Given the description of an element on the screen output the (x, y) to click on. 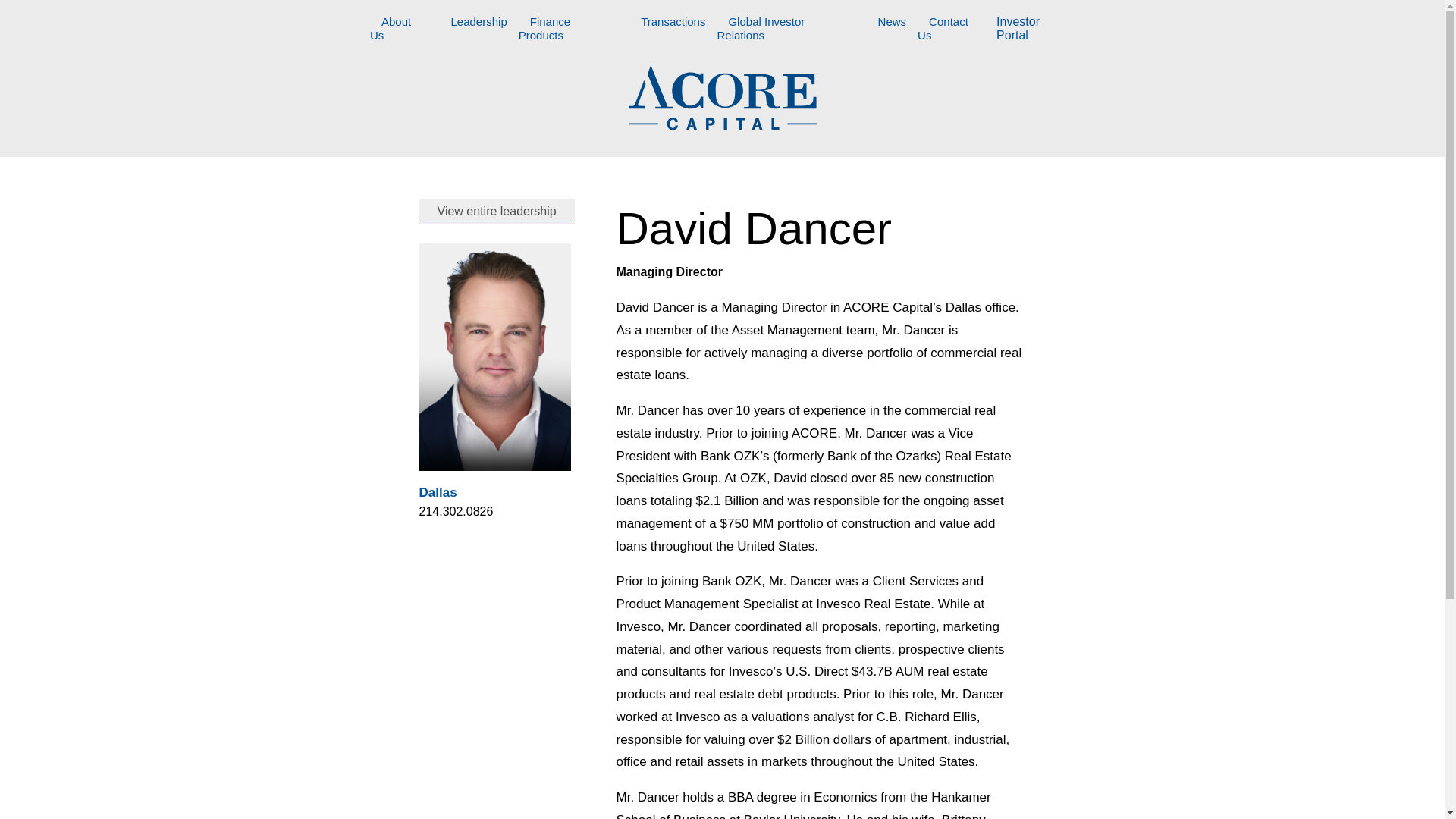
Investor Portal (1017, 28)
News (892, 23)
Global Investor Relations (760, 30)
Leadership (478, 23)
Contact Us (942, 30)
About Us (389, 30)
View entire leadership (496, 211)
Finance Products (546, 30)
Transactions (672, 23)
